Given the description of an element on the screen output the (x, y) to click on. 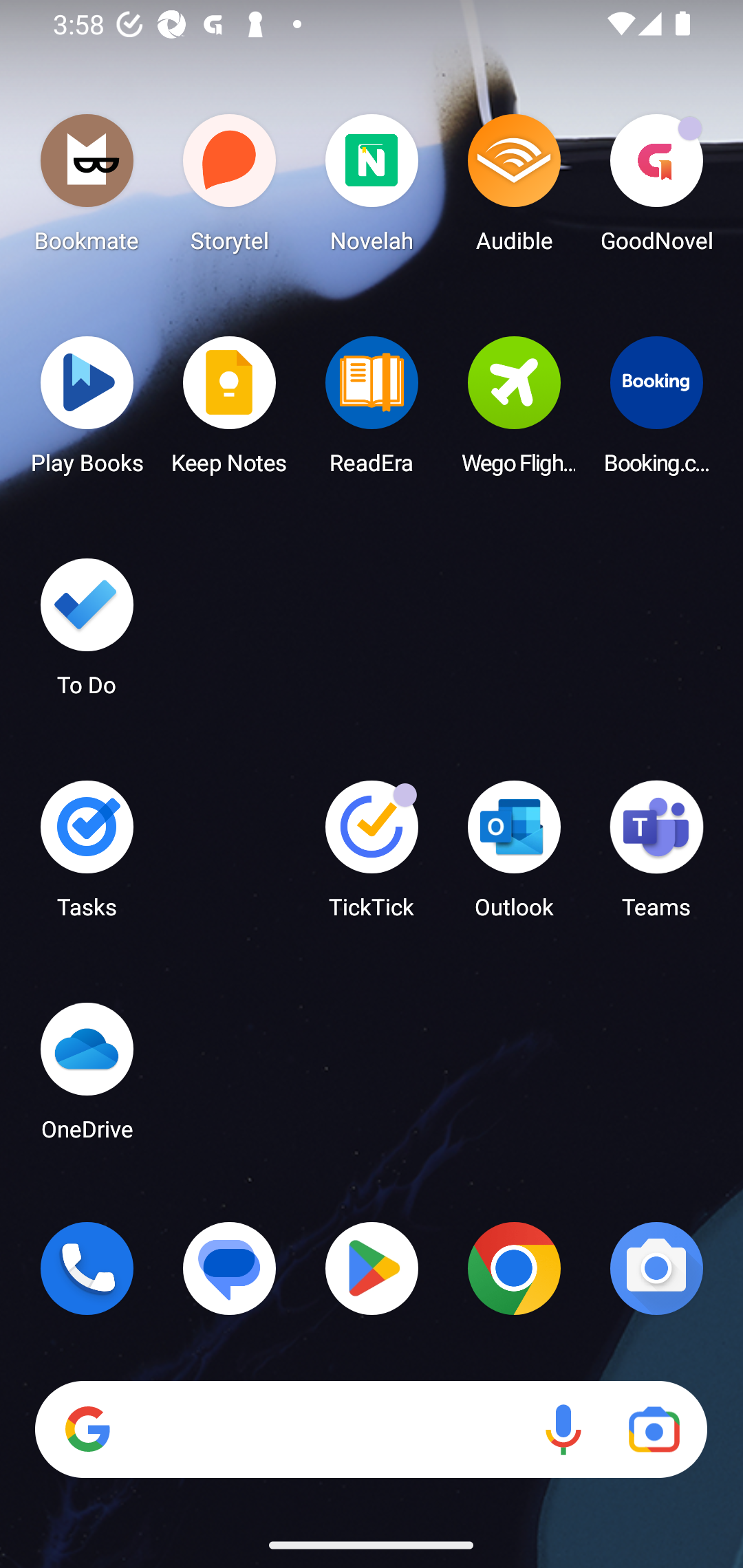
Bookmate (86, 188)
Storytel (229, 188)
Novelah (371, 188)
Audible (513, 188)
GoodNovel GoodNovel has 1 notification (656, 188)
Play Books (86, 410)
Keep Notes (229, 410)
ReadEra (371, 410)
Wego Flights & Hotels (513, 410)
Booking.com (656, 410)
To Do (86, 633)
Tasks (86, 854)
TickTick TickTick has 3 notifications (371, 854)
Outlook (513, 854)
Teams (656, 854)
OneDrive (86, 1076)
Phone (86, 1268)
Messages (229, 1268)
Play Store (371, 1268)
Chrome (513, 1268)
Camera (656, 1268)
Search Voice search Google Lens (370, 1429)
Voice search (562, 1429)
Google Lens (653, 1429)
